Given the description of an element on the screen output the (x, y) to click on. 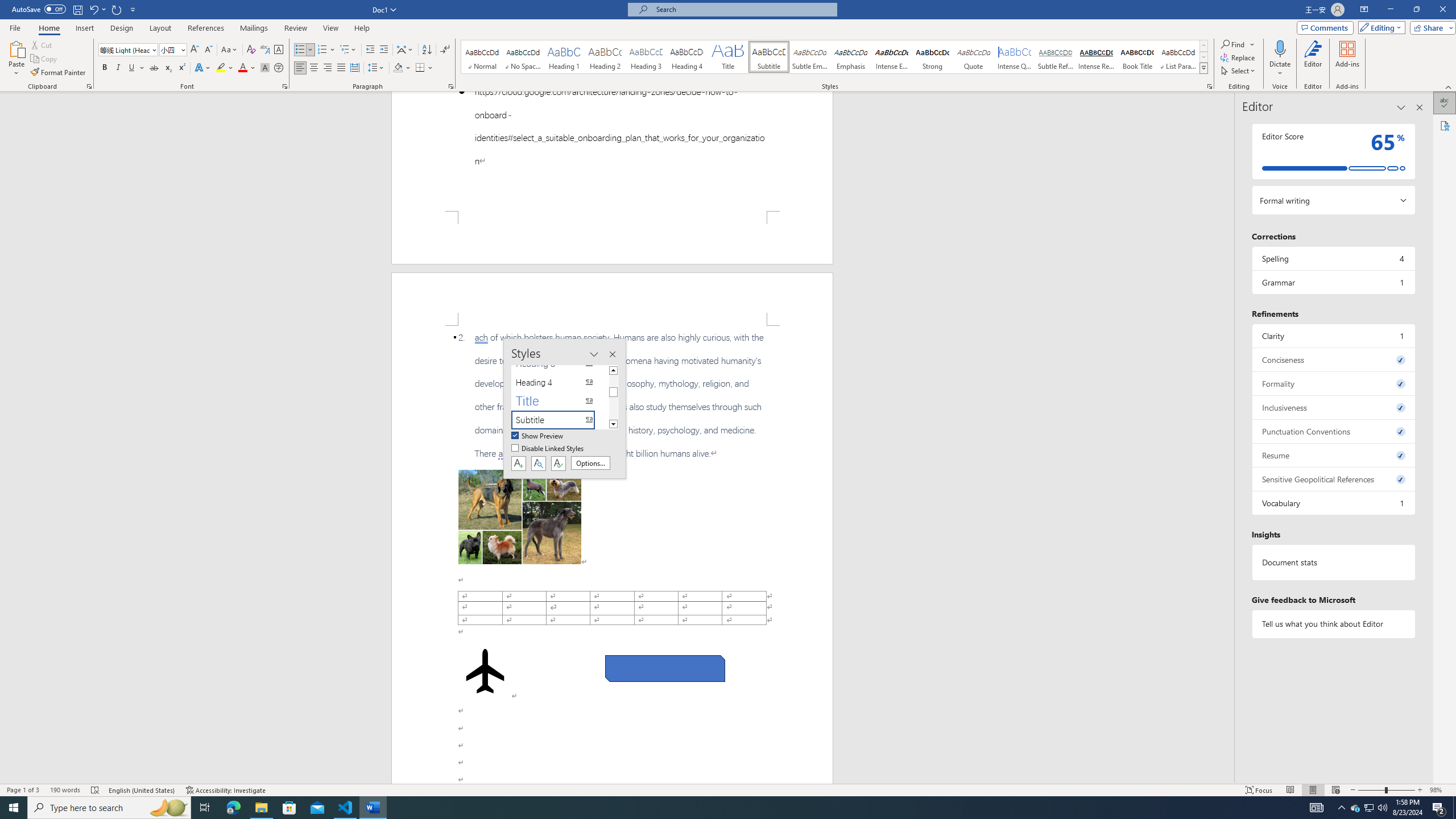
Microsoft search (742, 9)
Page 2 content (611, 554)
Subtle Emphasis (809, 56)
Line and Paragraph Spacing (376, 67)
Spelling and Grammar Check Errors (94, 790)
Quote (973, 56)
Cut (42, 44)
Heading 4 (686, 56)
Header -Section 1- (611, 298)
